Given the description of an element on the screen output the (x, y) to click on. 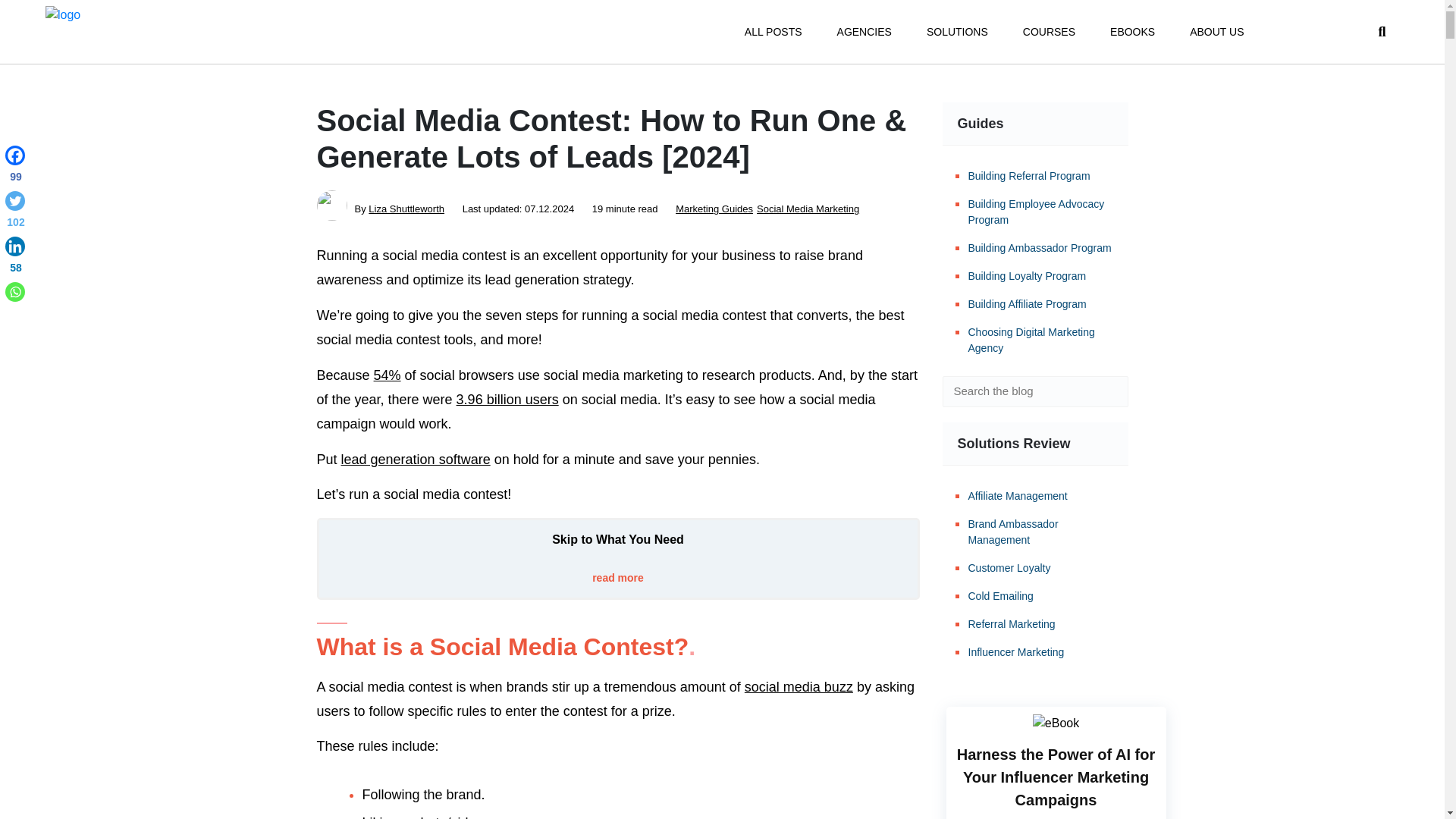
Whatsapp (14, 291)
Facebook (14, 166)
Search (1105, 391)
AGENCIES (864, 31)
Search (1105, 391)
Linkedin (14, 257)
Twitter (14, 211)
ALL POSTS (772, 31)
SOLUTIONS (957, 31)
